Given the description of an element on the screen output the (x, y) to click on. 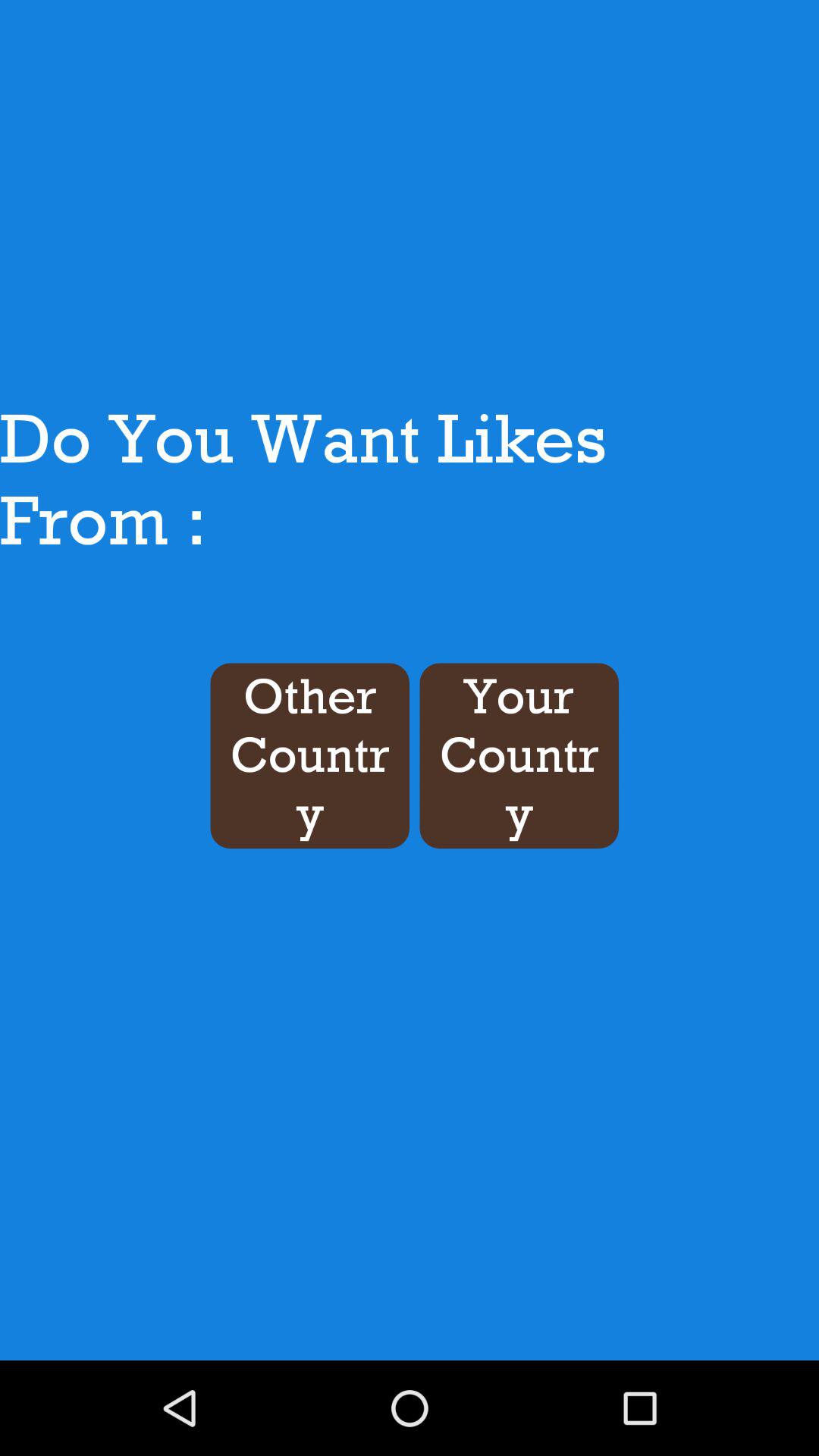
open the icon below do you want item (309, 755)
